Given the description of an element on the screen output the (x, y) to click on. 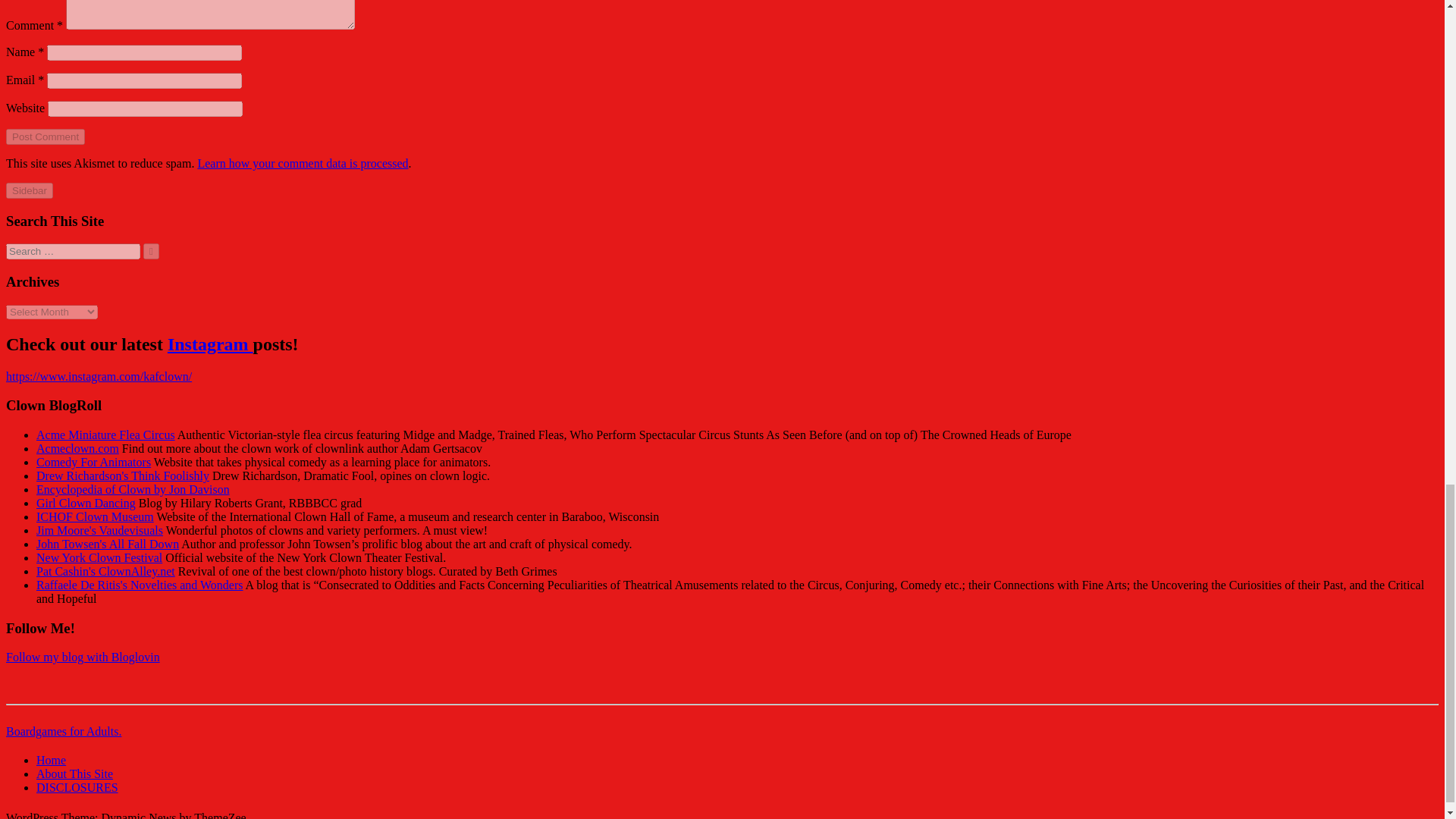
Sidebar (28, 190)
Girl Clown Dancing (85, 502)
Pat Cashin's ClownAlley.net (105, 571)
Post Comment (44, 136)
Drew Richardson, Dramatic Fool, opines on clown logic. (122, 475)
Post Comment (44, 136)
ICHOF Clown Museum (95, 516)
